Given the description of an element on the screen output the (x, y) to click on. 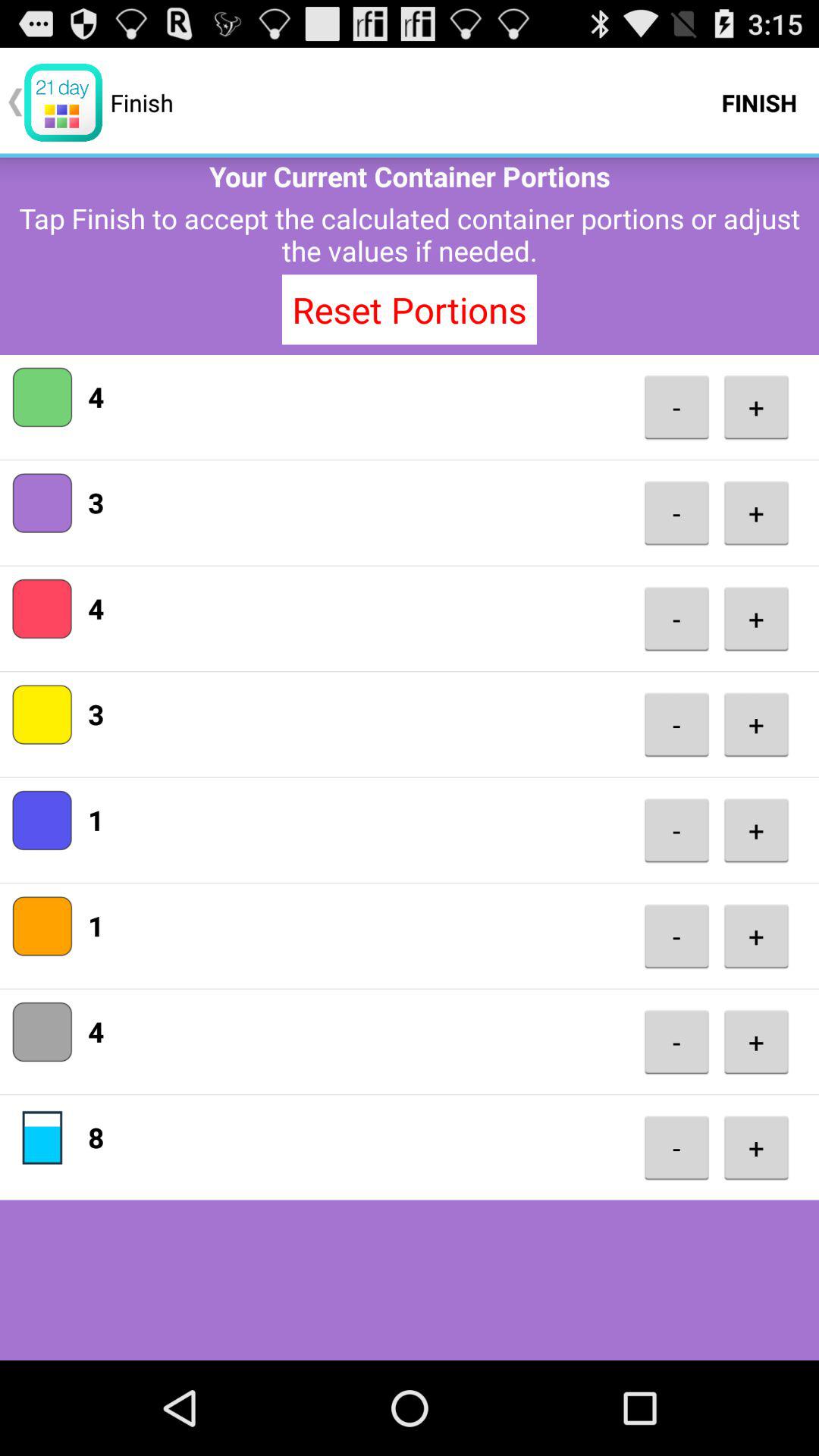
scroll until the + icon (756, 618)
